Given the description of an element on the screen output the (x, y) to click on. 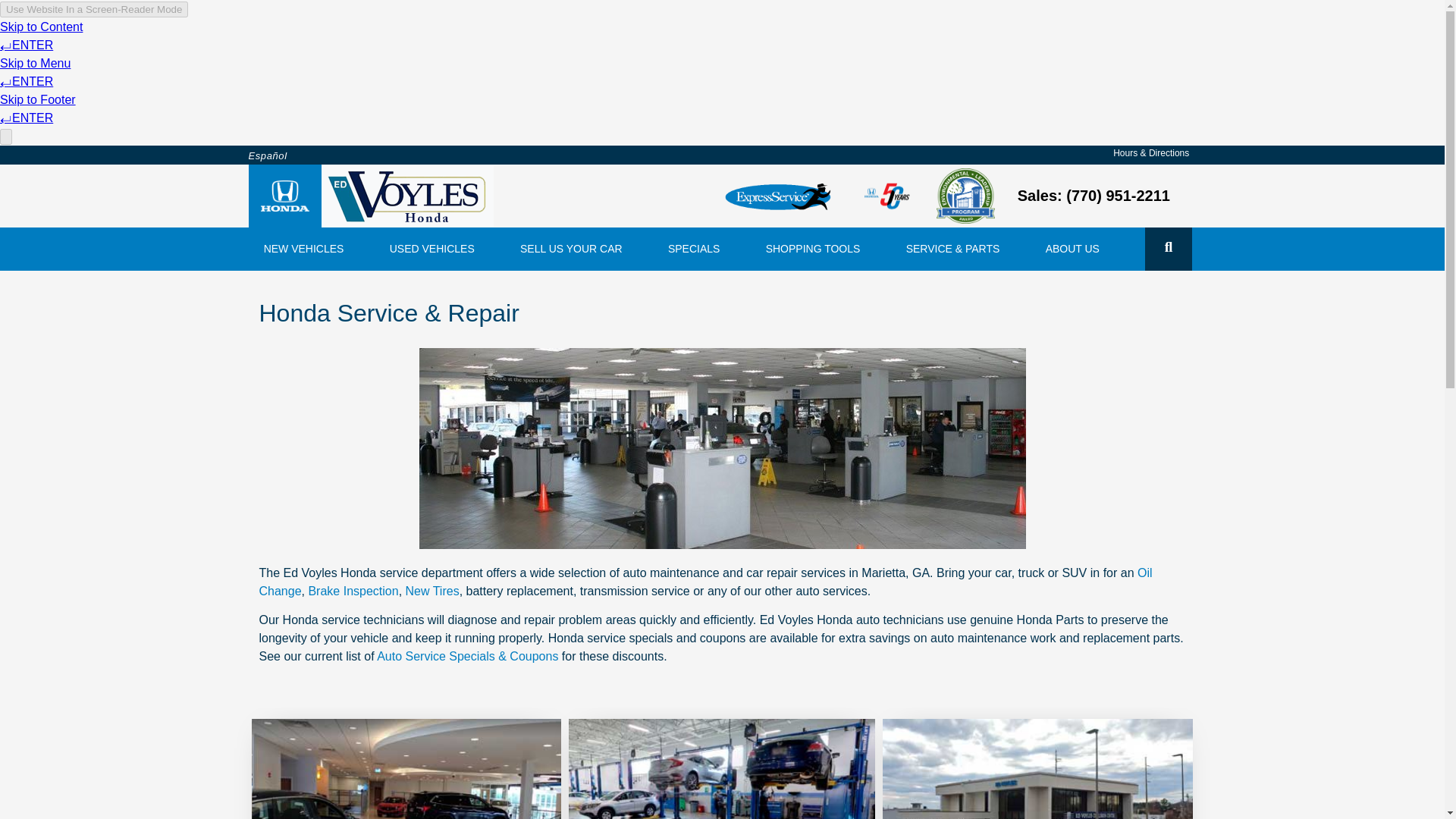
SELL US YOUR CAR (574, 248)
SPECIALS (697, 248)
NEW VEHICLES (306, 248)
USED VEHICLES (435, 248)
